Given the description of an element on the screen output the (x, y) to click on. 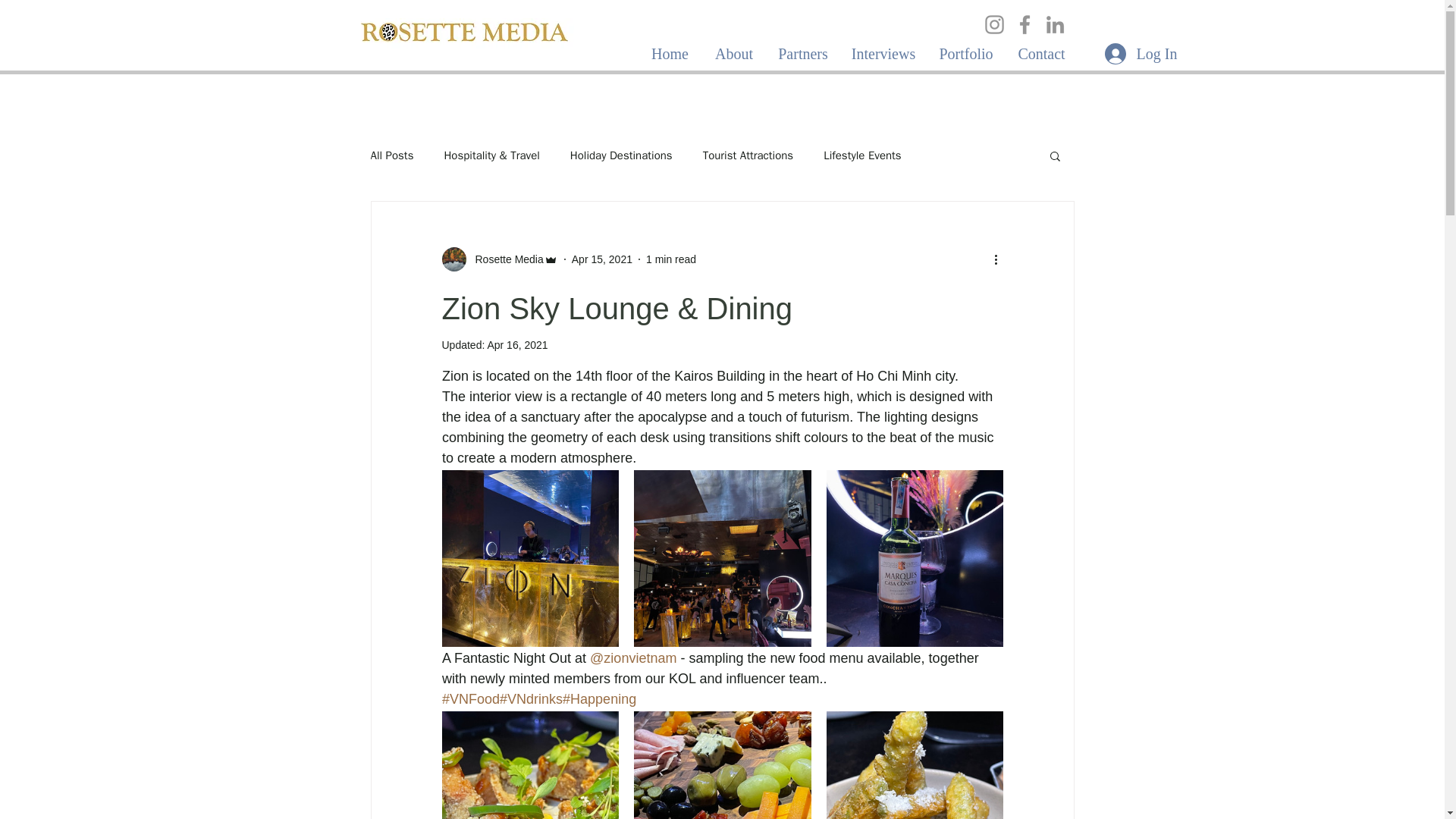
Holiday Destinations (621, 155)
About (734, 53)
Rosette-02.jpg (464, 33)
Portfolio (965, 53)
Apr 15, 2021 (601, 259)
Tourist Attractions (748, 155)
Apr 16, 2021 (516, 345)
1 min read (670, 259)
Rosette Media (504, 259)
Home (670, 53)
